Given the description of an element on the screen output the (x, y) to click on. 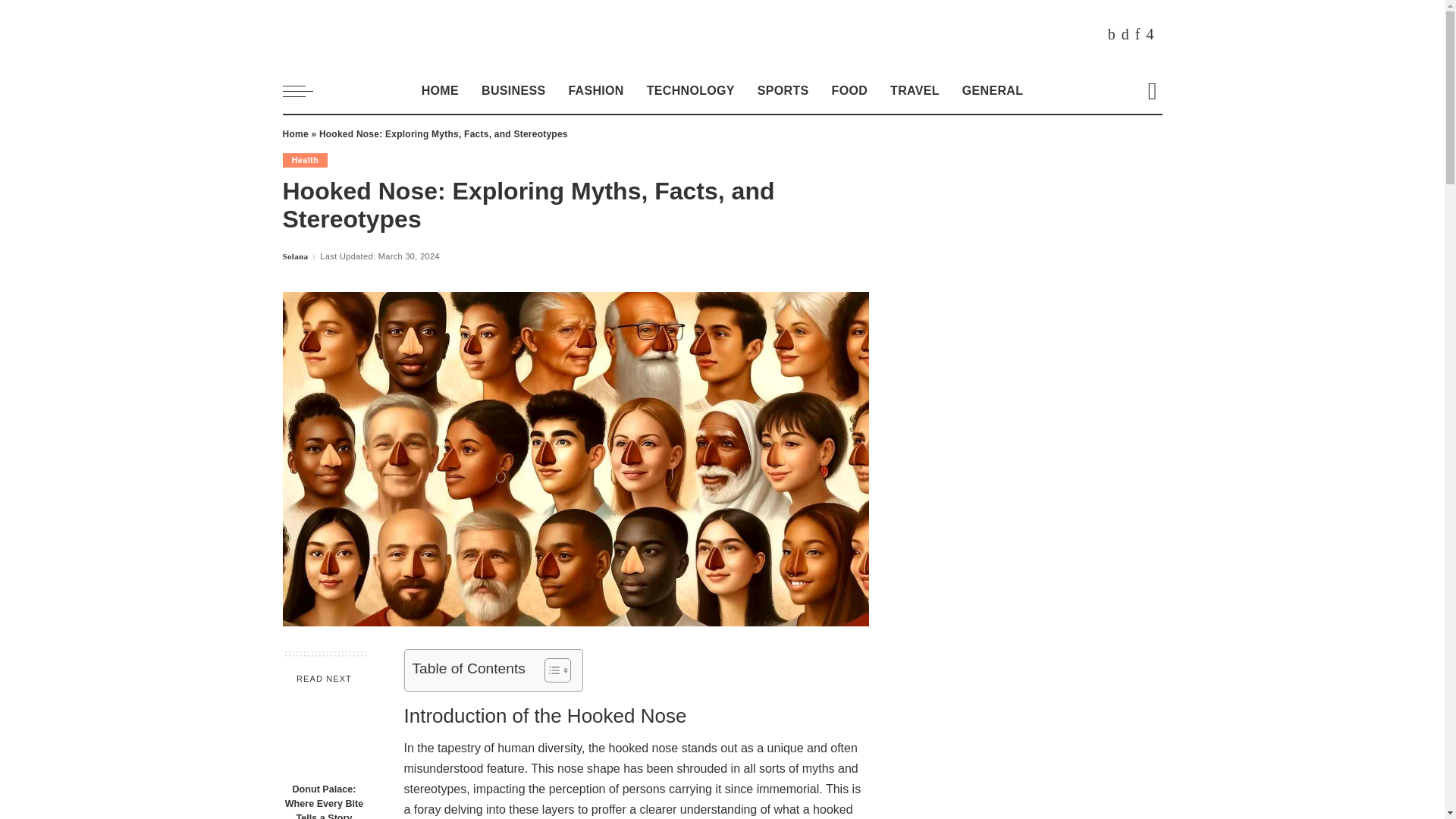
TRAVEL (914, 90)
Pinterest (1137, 34)
GENERAL (991, 90)
FOOD (850, 90)
BUSINESS (513, 90)
SPORTS (783, 90)
FASHION (595, 90)
Facebook (1111, 34)
TECHNOLOGY (689, 90)
HOME (440, 90)
Instagram (1149, 34)
Twitter (1125, 34)
